Given the description of an element on the screen output the (x, y) to click on. 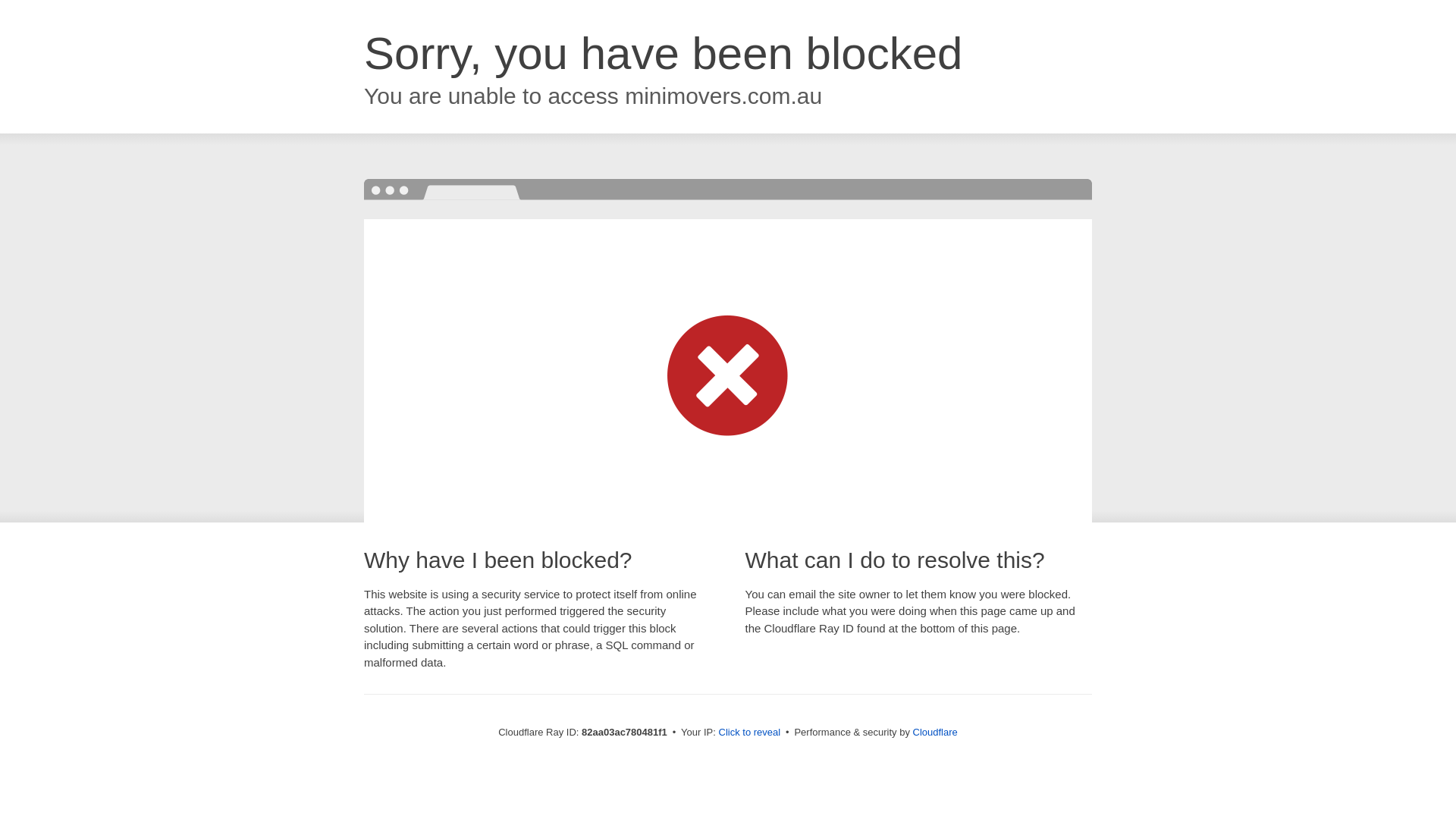
Cloudflare Element type: text (935, 731)
Click to reveal Element type: text (749, 732)
